Given the description of an element on the screen output the (x, y) to click on. 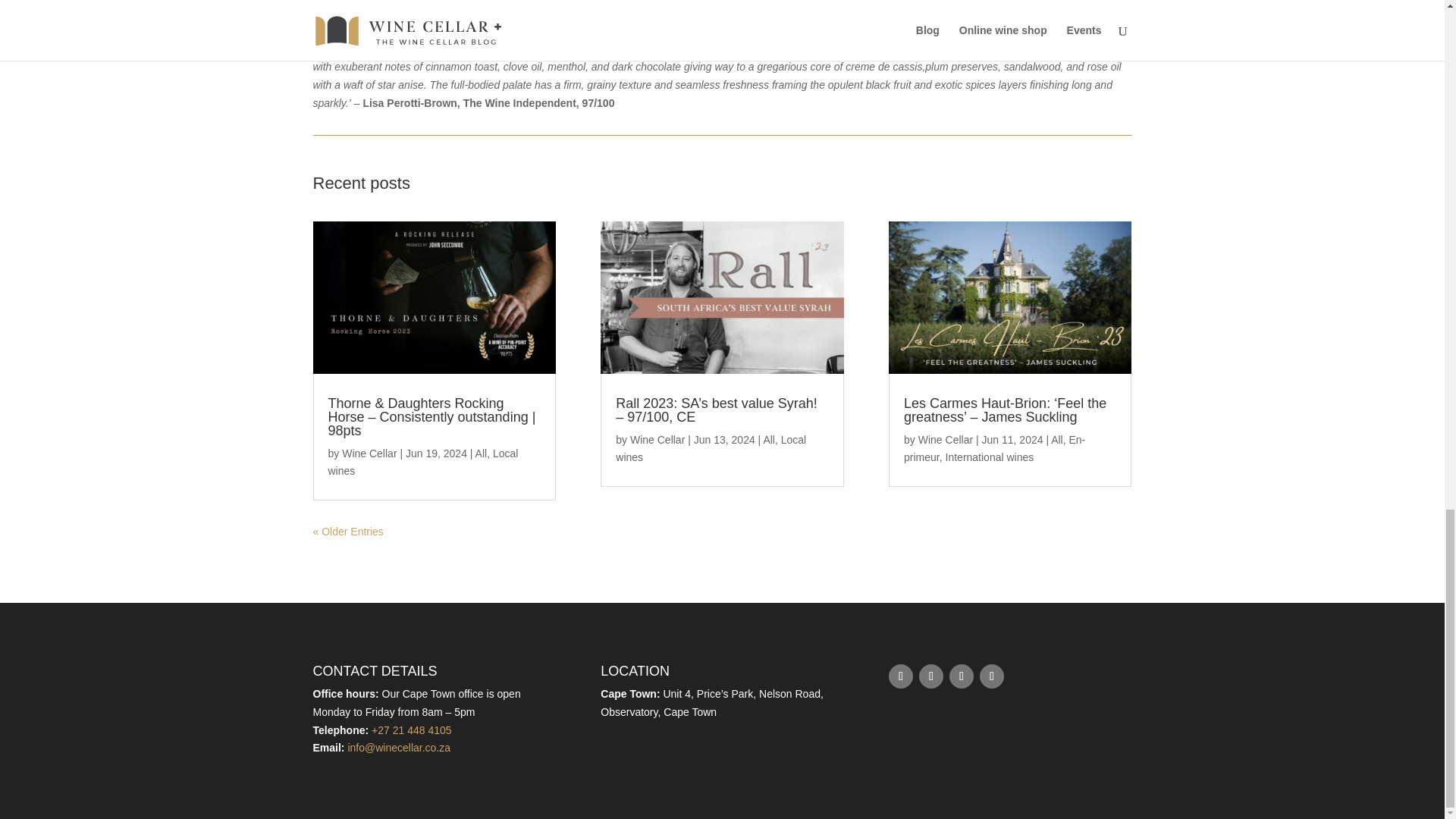
All (481, 453)
En-primeur (994, 449)
Wine Cellar (657, 439)
Local wines (422, 462)
Pangaea 2015 (347, 4)
Follow on Twitter (930, 676)
Follow on Facebook (900, 676)
Posts by Wine Cellar (369, 453)
Wine Cellar (369, 453)
All (768, 439)
